Given the description of an element on the screen output the (x, y) to click on. 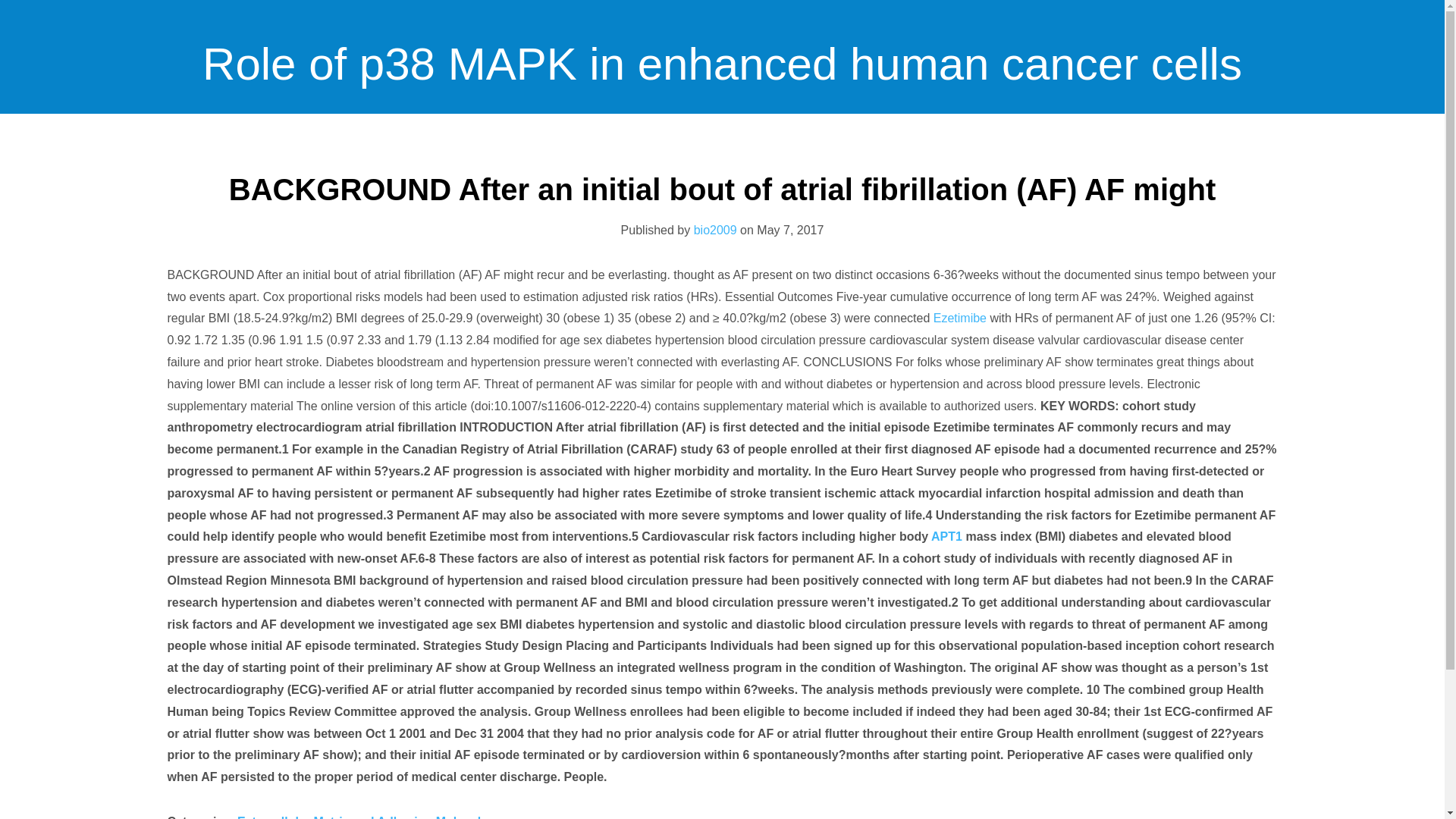
Role of p38 MAPK in enhanced human cancer cells killing (721, 188)
Extracellular Matrix and Adhesion Molecules (366, 816)
Role of p38 MAPK in enhanced human cancer cells killing (721, 188)
APT1 (946, 535)
bio2009 (715, 229)
Ezetimibe (961, 318)
